Given the description of an element on the screen output the (x, y) to click on. 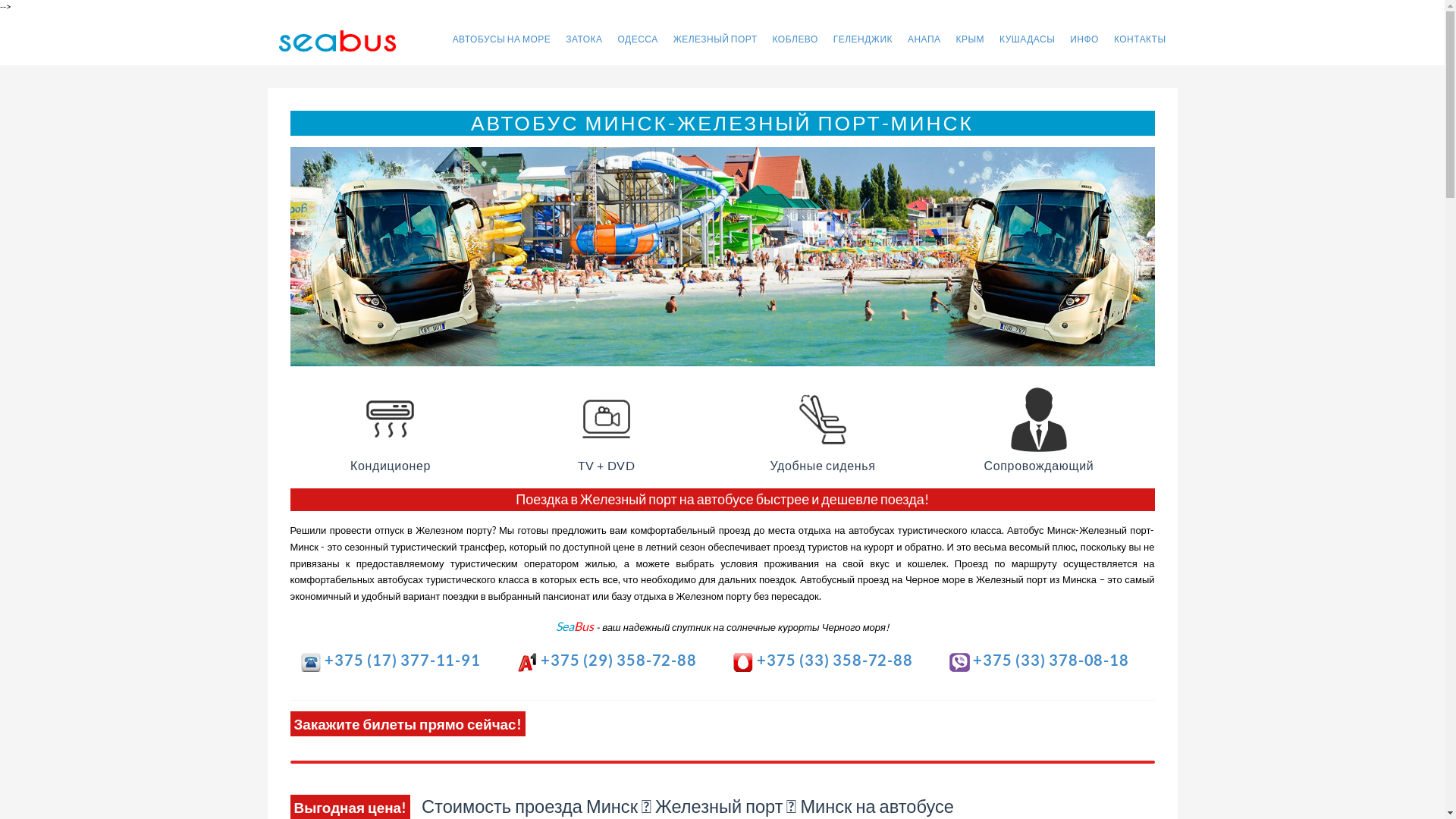
+375 (33) 378-08-18 Element type: text (1039, 659)
+375 (33) 358-72-88 Element type: text (822, 659)
+375 (17) 377-11-91 Element type: text (390, 659)
+375 (29) 358-72-88 Element type: text (606, 659)
